Given the description of an element on the screen output the (x, y) to click on. 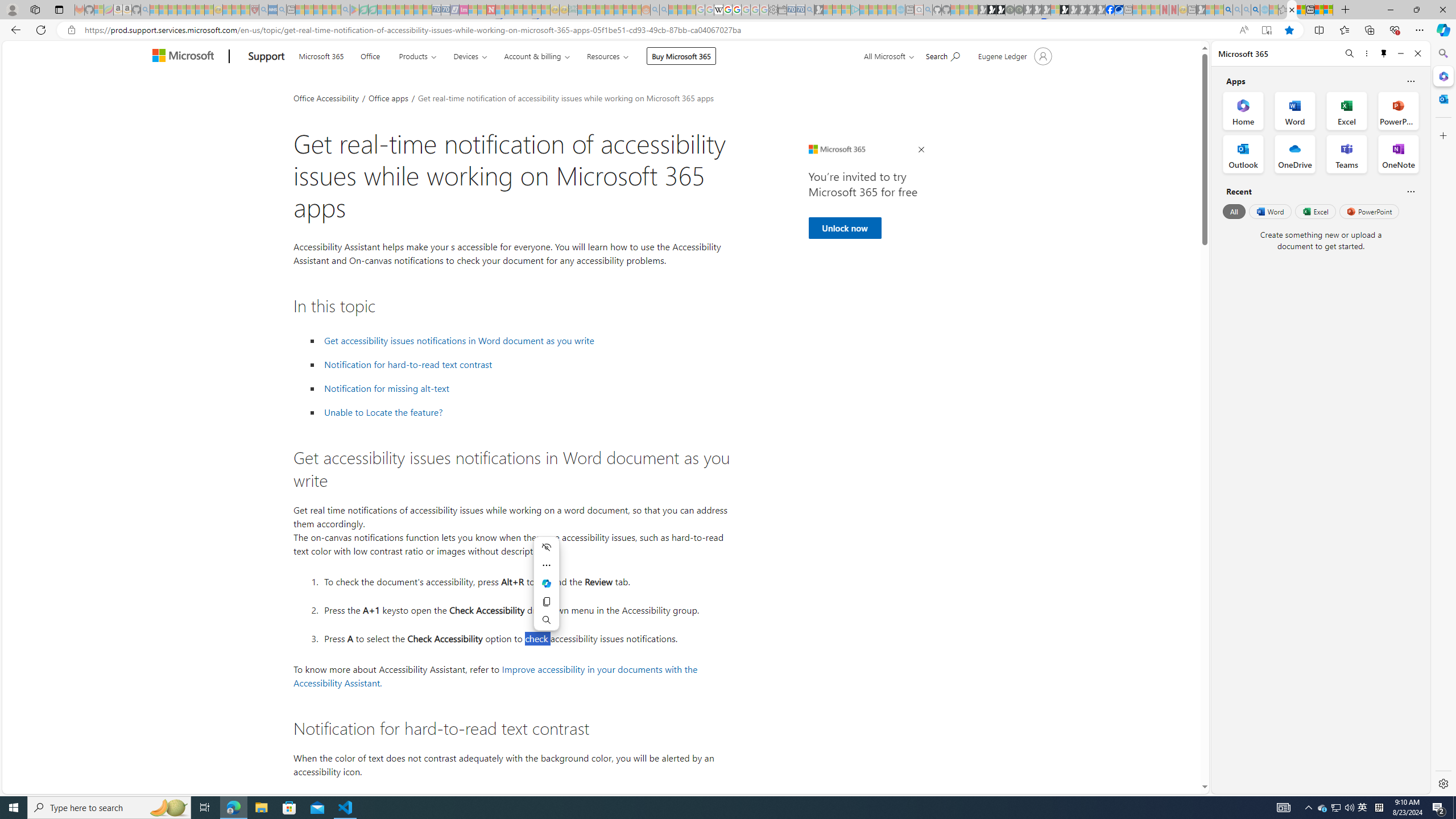
Teams Office App (1346, 154)
Word Office App (1295, 110)
